Given the description of an element on the screen output the (x, y) to click on. 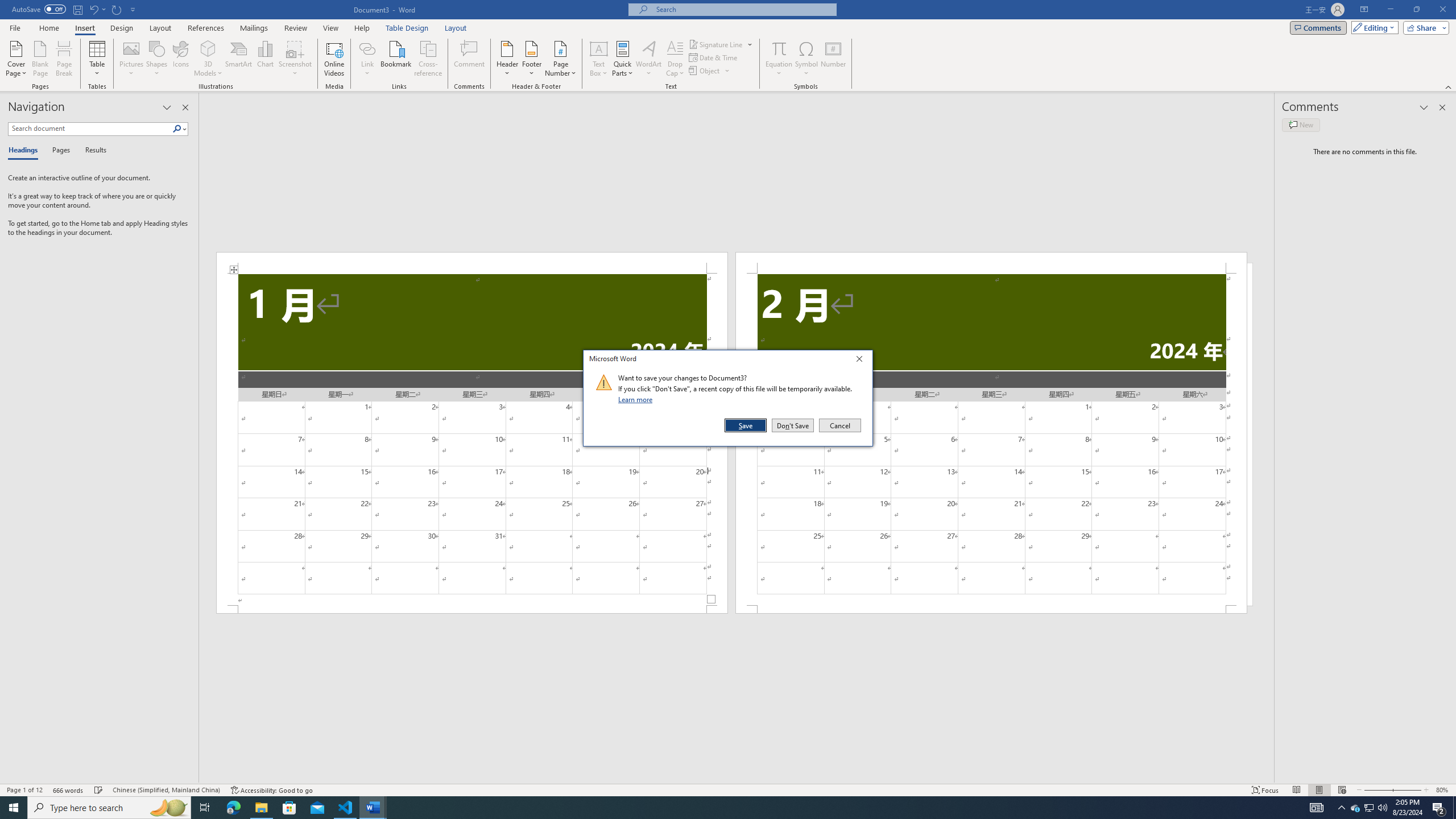
Microsoft search (742, 9)
SmartArt... (238, 58)
WordArt (648, 58)
Q2790: 100% (1382, 807)
Undo Increase Indent (96, 9)
Signature Line (716, 44)
Chart... (265, 58)
Cross-reference... (428, 58)
